Given the description of an element on the screen output the (x, y) to click on. 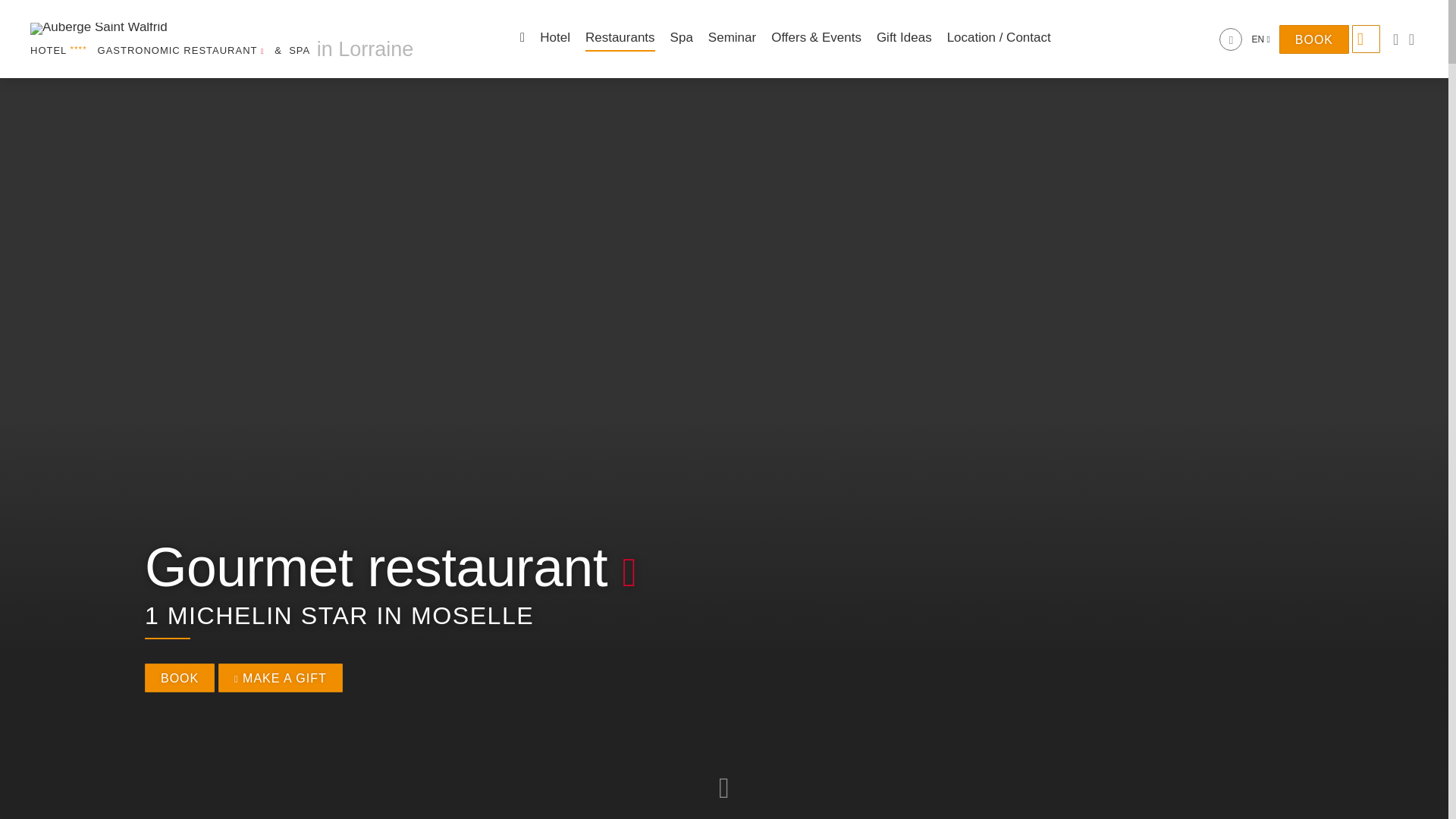
Hotel (555, 38)
Home (521, 38)
Auberge Saint Walfrid (221, 38)
Hotel (555, 38)
Seminar (731, 38)
Auberge Saint Walfrid (162, 30)
Gift Ideas (903, 38)
BOOK (1314, 39)
Restaurants (620, 38)
Restaurants (620, 38)
Spa (681, 38)
Spa (681, 38)
